Given the description of an element on the screen output the (x, y) to click on. 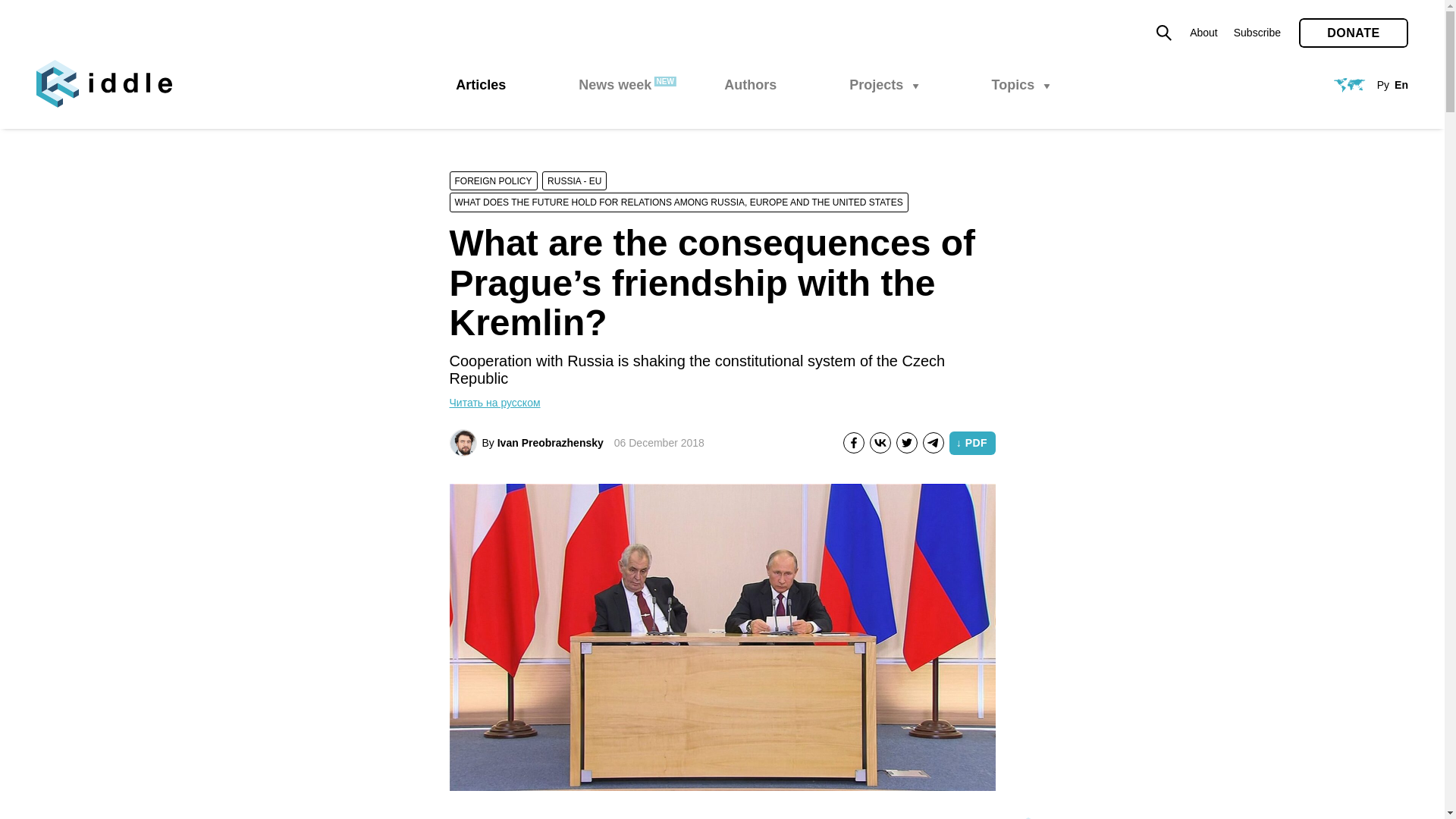
Articles (480, 84)
Projects (883, 84)
News week (614, 84)
Authors (749, 84)
Topics (1020, 84)
About (1203, 32)
Subscribe (1257, 32)
